Given the description of an element on the screen output the (x, y) to click on. 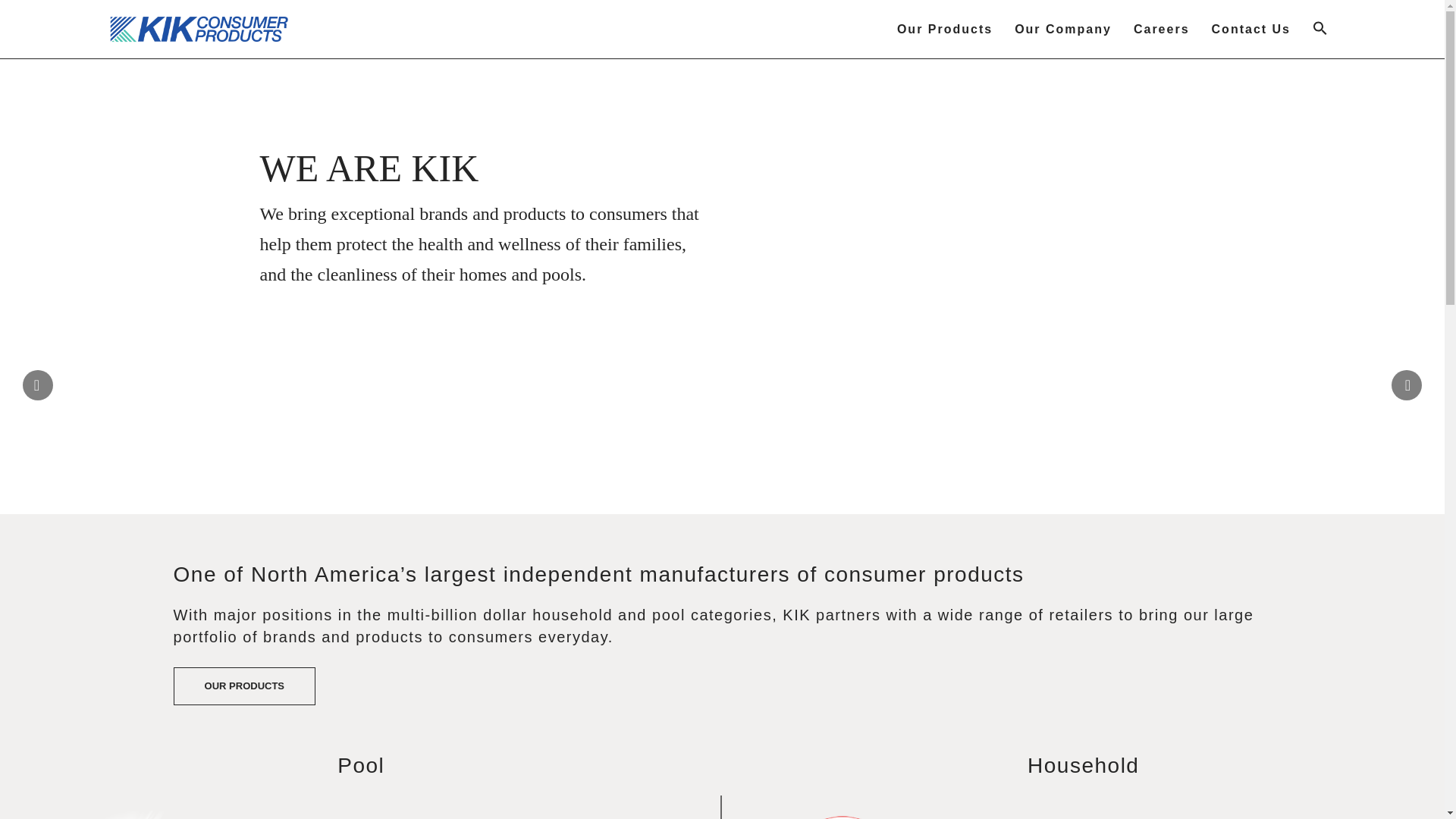
Careers (1160, 28)
Pool (360, 765)
Household (1082, 765)
Contact Us (1251, 28)
Our Products (944, 28)
Household (1082, 765)
OUR PRODUCTS (244, 686)
Our Company (1063, 28)
kik (198, 29)
Pool (360, 765)
spicspan-v3 (1082, 814)
